Given the description of an element on the screen output the (x, y) to click on. 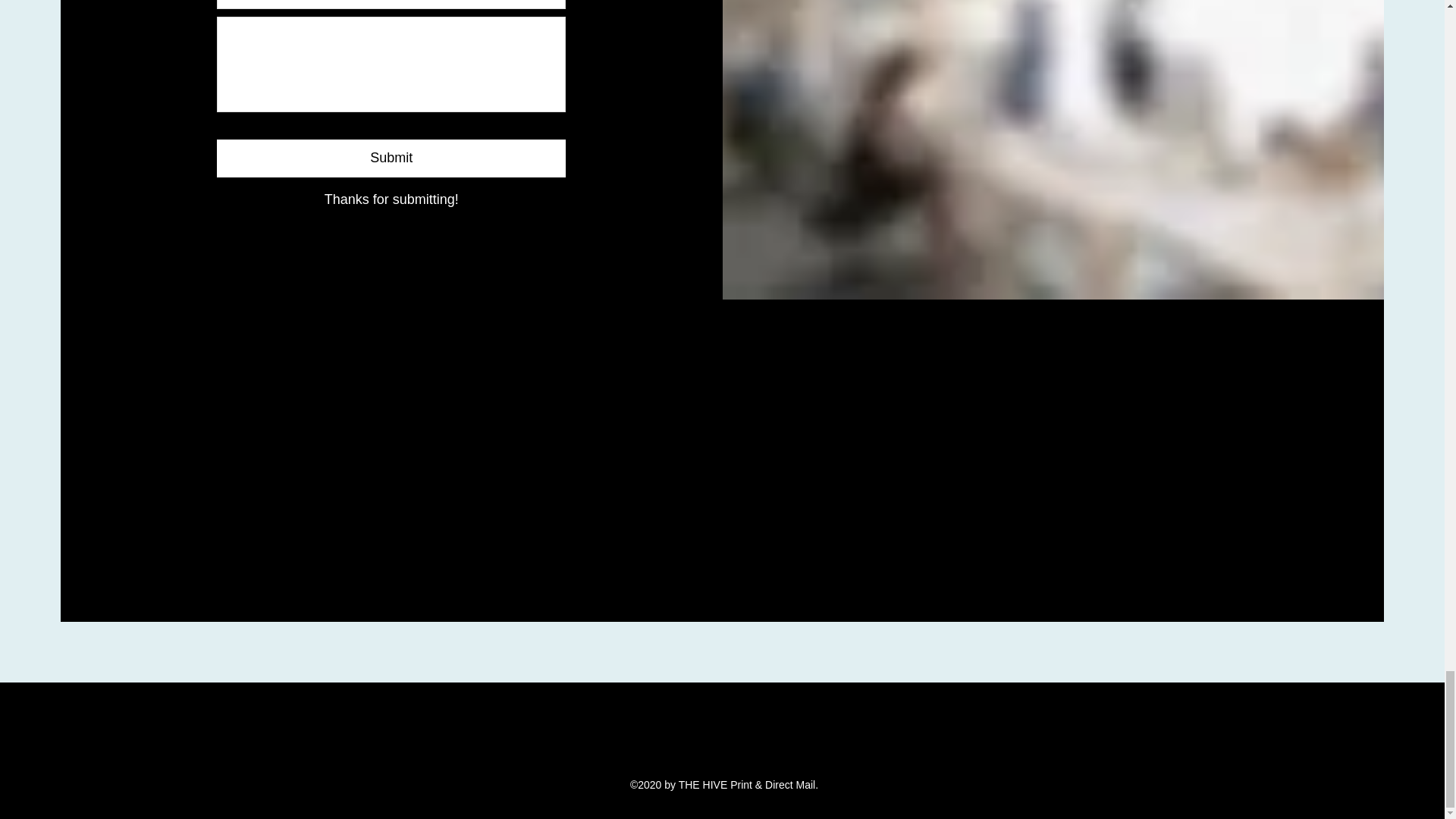
Submit (391, 158)
